Given the description of an element on the screen output the (x, y) to click on. 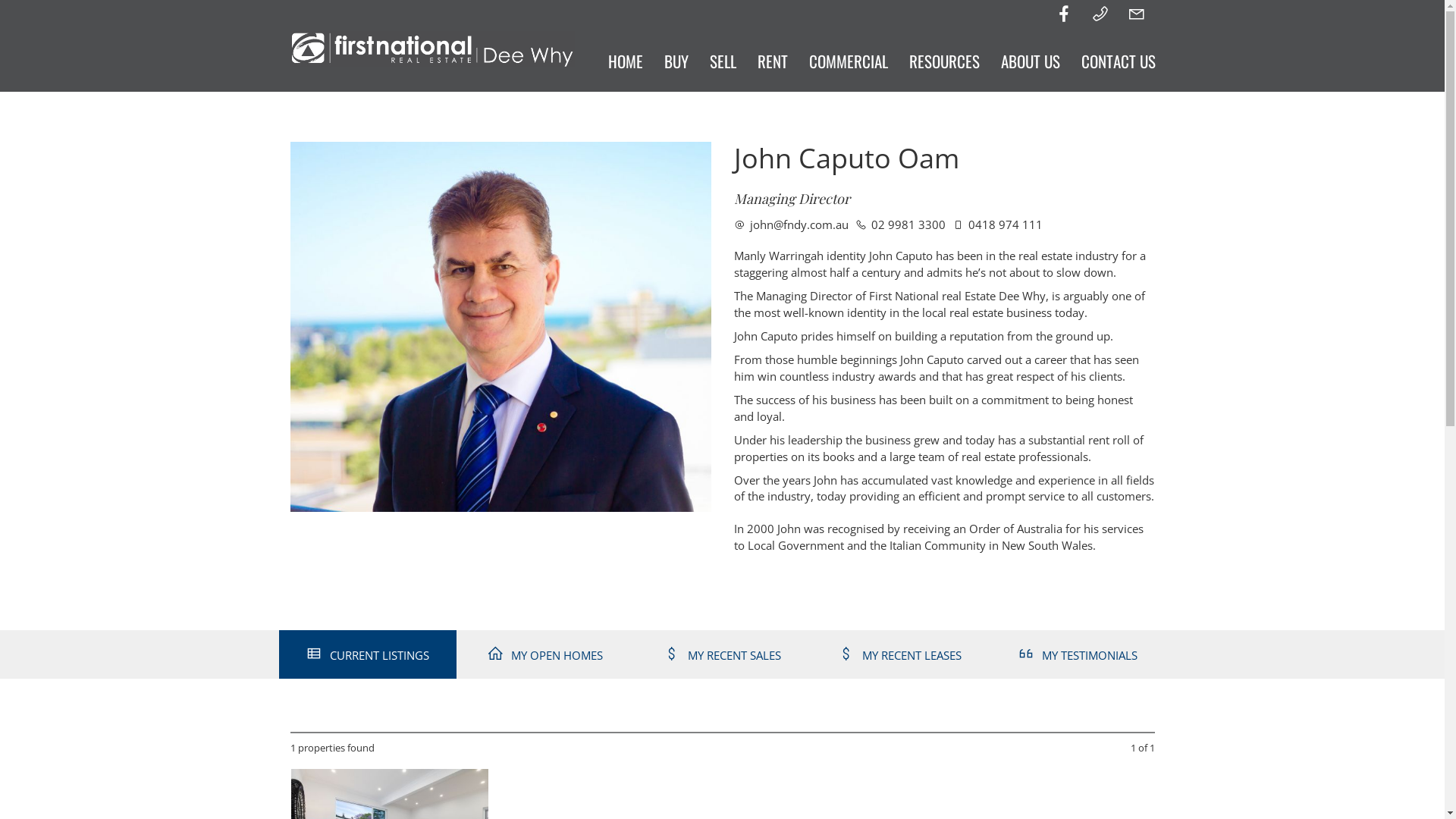
john@fndy.com.au Element type: text (791, 224)
MY OPEN HOMES Element type: text (544, 654)
MY TESTIMONIALS Element type: text (1077, 654)
02 9981 3300 Element type: text (900, 224)
MY RECENT LEASES Element type: text (899, 654)
HOME Element type: text (625, 61)
BUY Element type: text (676, 61)
SELL Element type: text (722, 61)
MY RECENT SALES Element type: text (722, 654)
COMMERCIAL Element type: text (847, 61)
CONTACT US Element type: text (1118, 61)
RESOURCES Element type: text (943, 61)
ABOUT US Element type: text (1030, 61)
CURRENT LISTINGS Element type: text (367, 654)
0418 974 111 Element type: text (997, 224)
RENT Element type: text (771, 61)
